Given the description of an element on the screen output the (x, y) to click on. 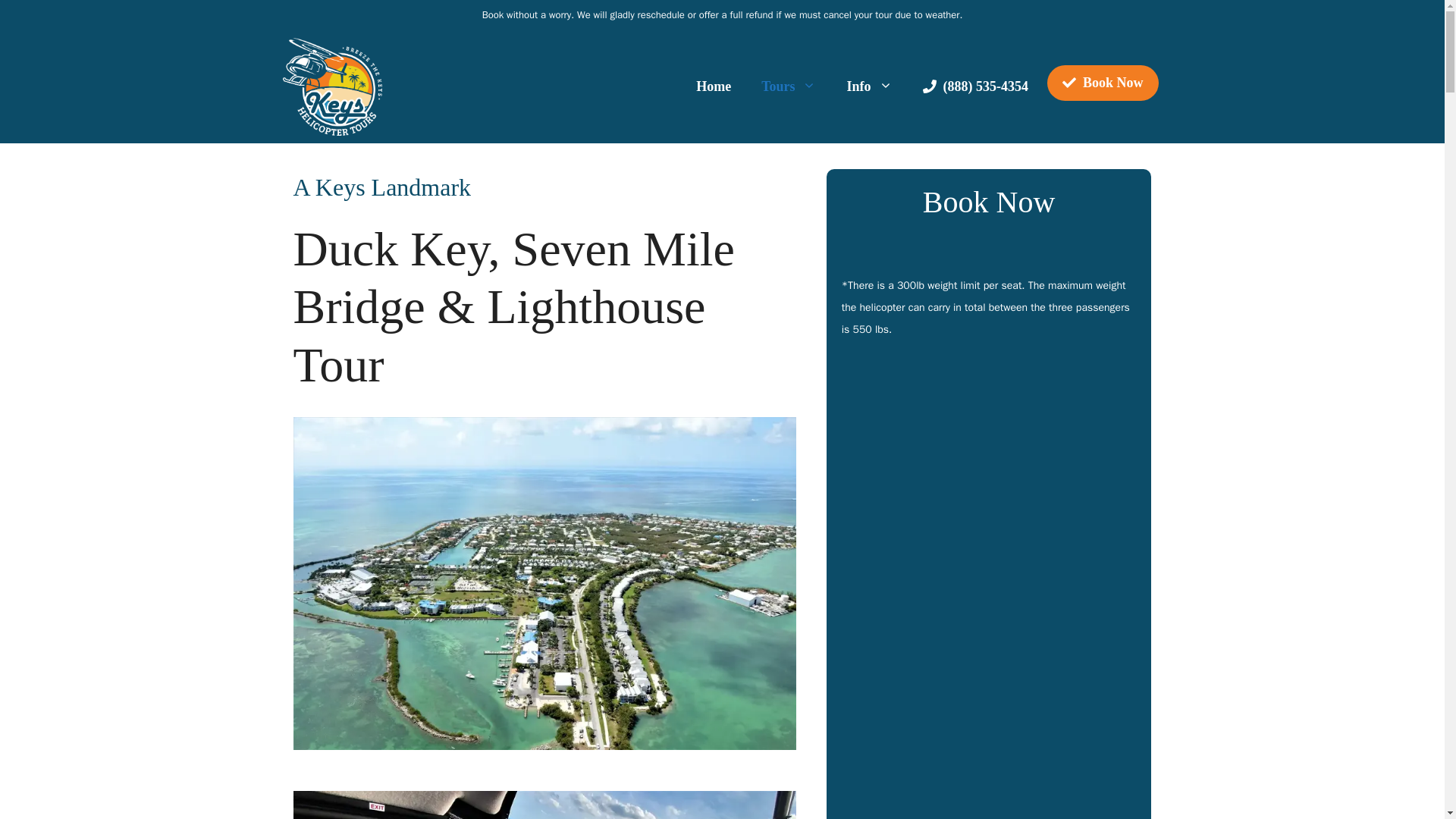
Book Now (1102, 82)
